Given the description of an element on the screen output the (x, y) to click on. 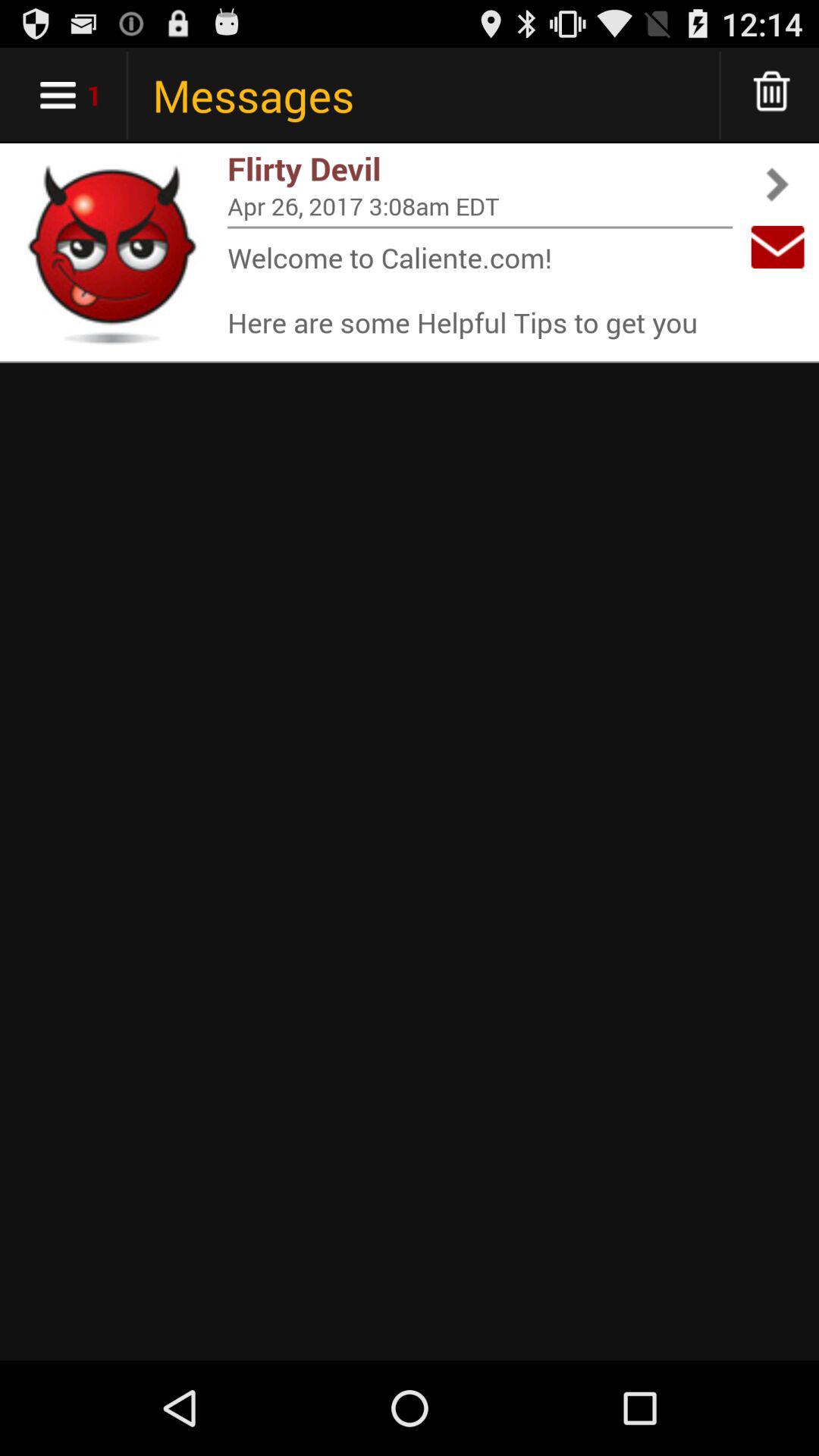
turn off the app below the messages icon (479, 168)
